Given the description of an element on the screen output the (x, y) to click on. 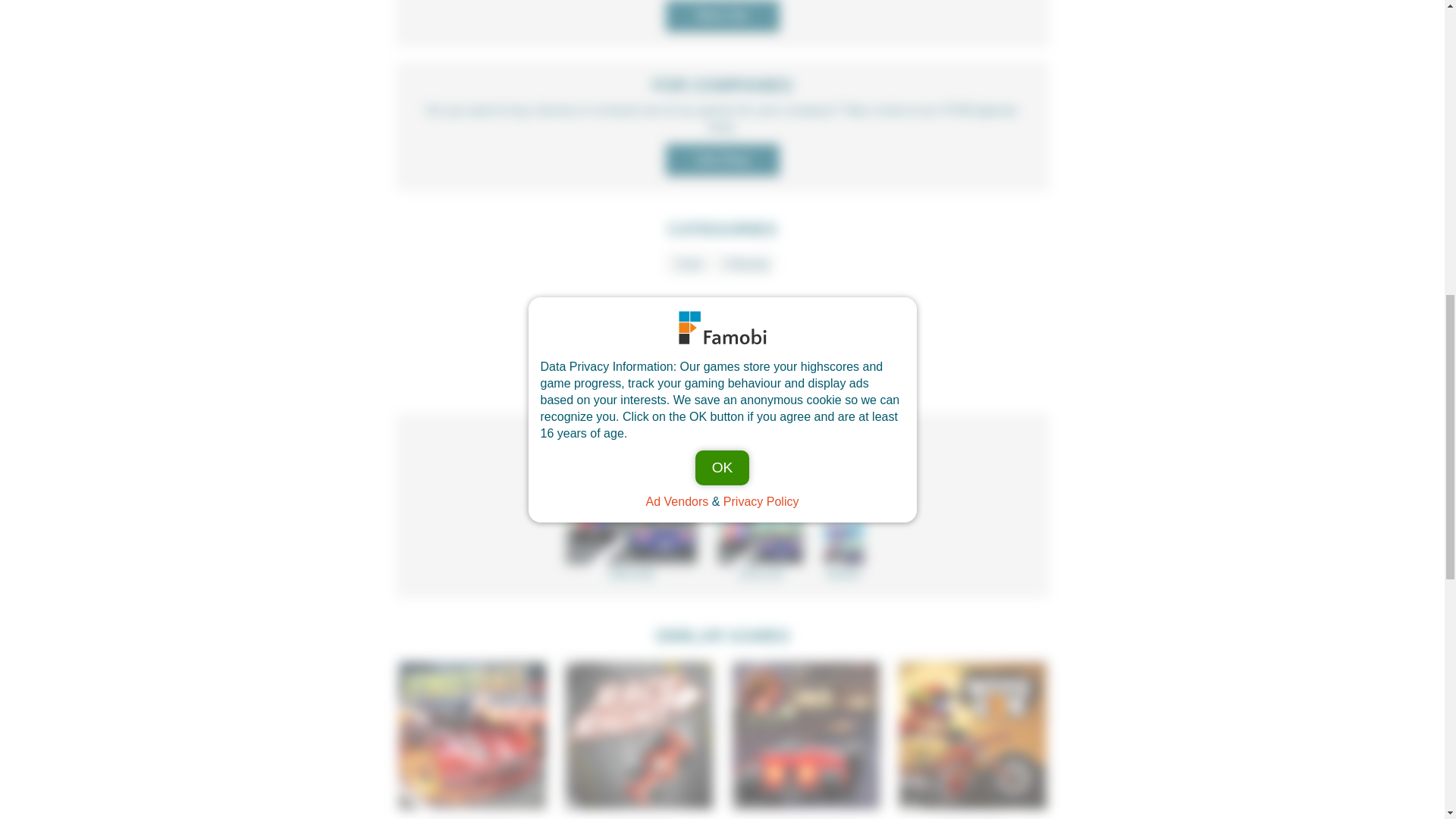
Speed Club Nitro (804, 739)
 Cars (687, 263)
de (745, 360)
More Info (721, 15)
Moto X3M (972, 739)
Visit Shop (721, 160)
StreetRace Fury (471, 739)
Race Right (638, 739)
en (700, 360)
 Racing (744, 263)
